Given the description of an element on the screen output the (x, y) to click on. 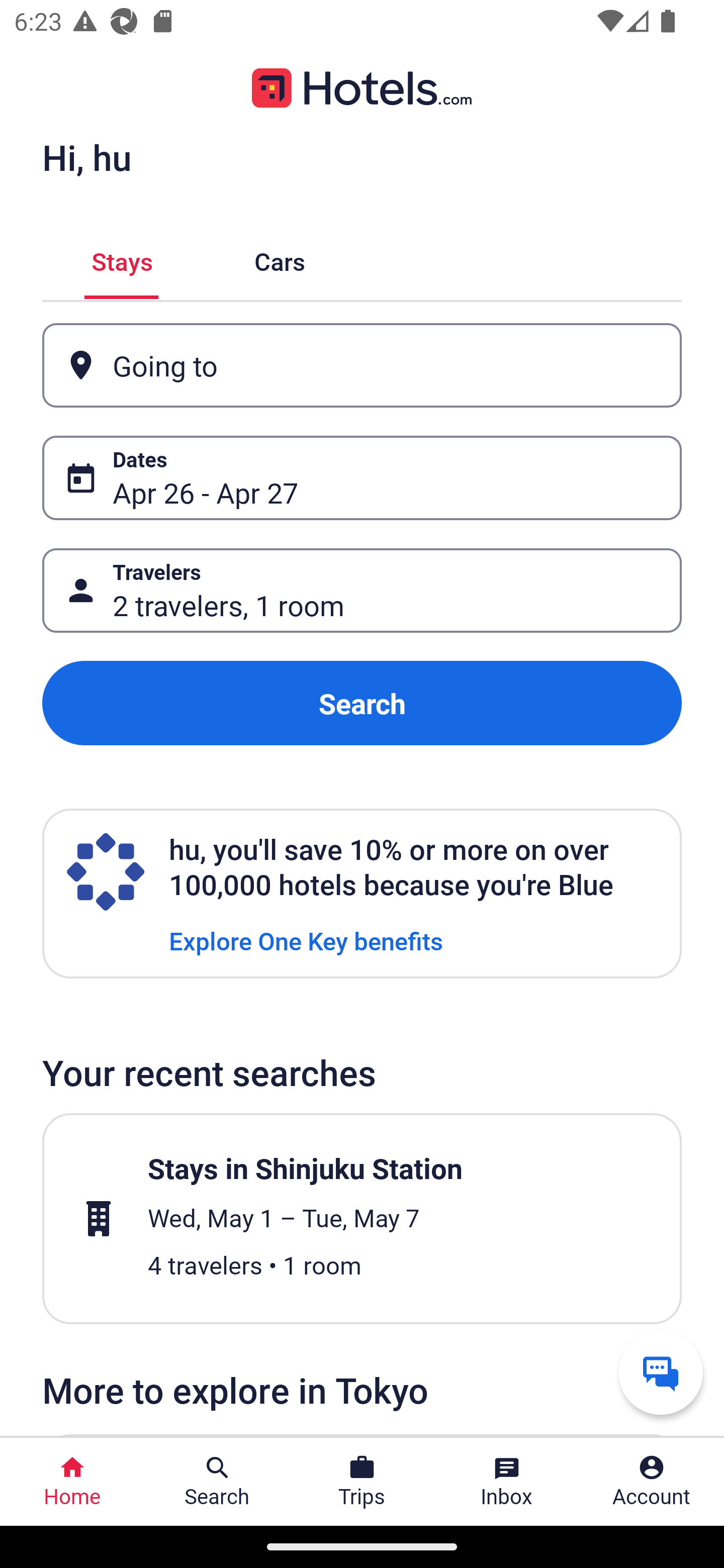
Hi, hu (86, 156)
Cars (279, 259)
Going to Button (361, 365)
Dates Button Apr 26 - Apr 27 (361, 477)
Travelers Button 2 travelers, 1 room (361, 590)
Search (361, 702)
Get help from a virtual agent (660, 1371)
Search Search Button (216, 1481)
Trips Trips Button (361, 1481)
Inbox Inbox Button (506, 1481)
Account Profile. Button (651, 1481)
